Given the description of an element on the screen output the (x, y) to click on. 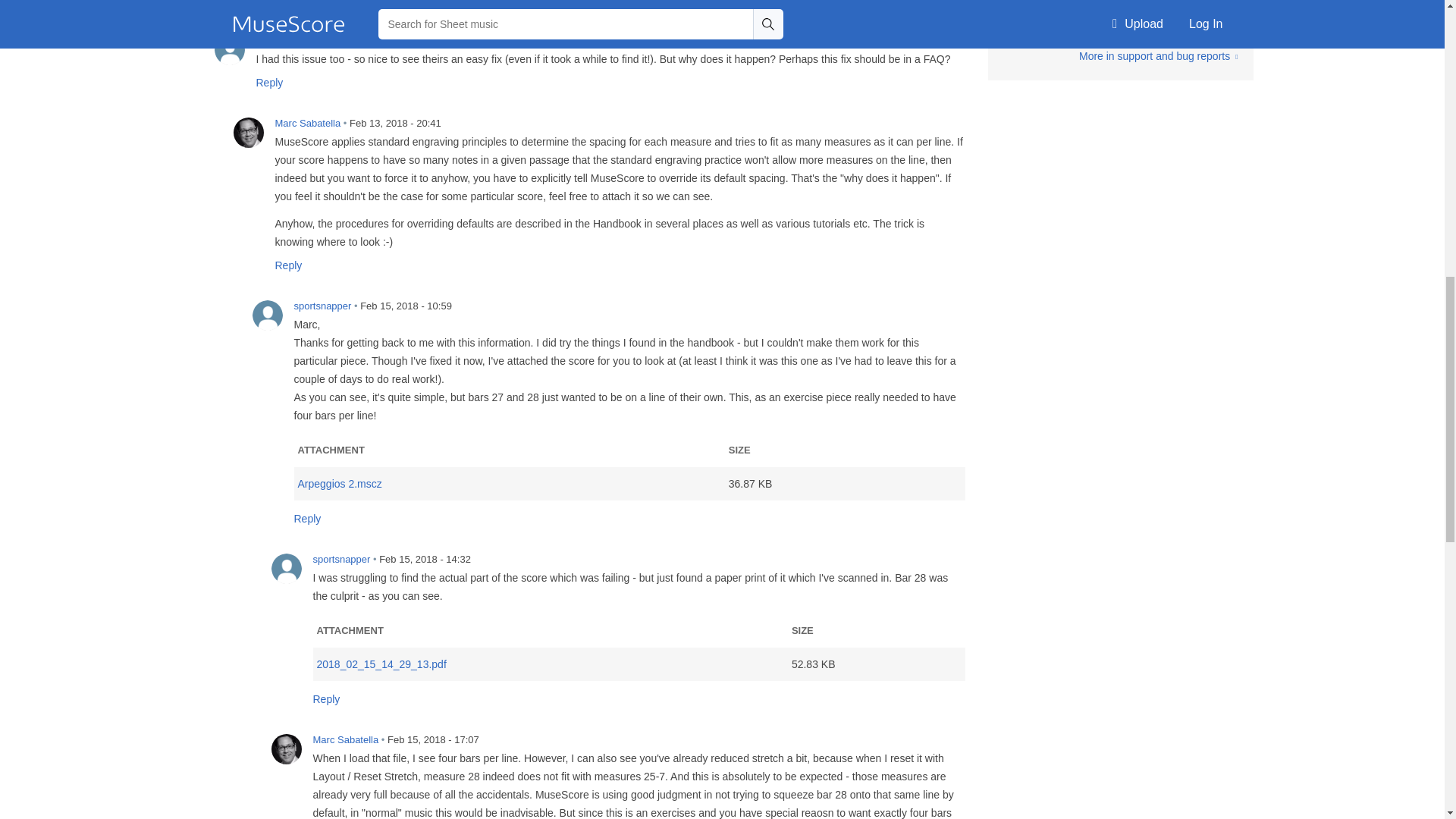
sportsnapper (266, 315)
sportsnapper (229, 50)
Marc Sabatella (247, 132)
